Given the description of an element on the screen output the (x, y) to click on. 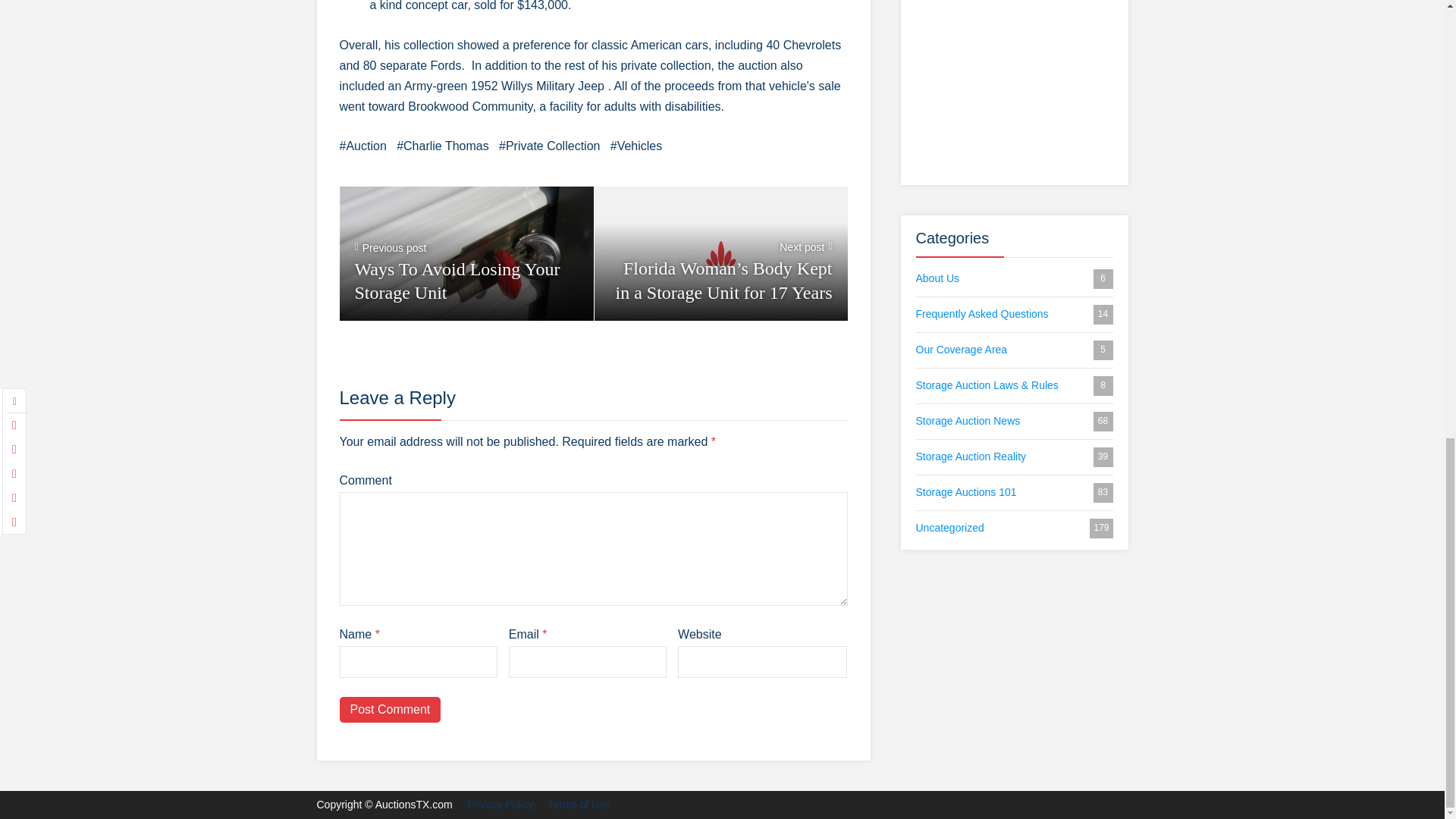
Auction (363, 146)
Advertisement (1014, 86)
Post Comment (390, 709)
Laws and rules pertaining to storage auctions in Texas.  (1014, 385)
